Given the description of an element on the screen output the (x, y) to click on. 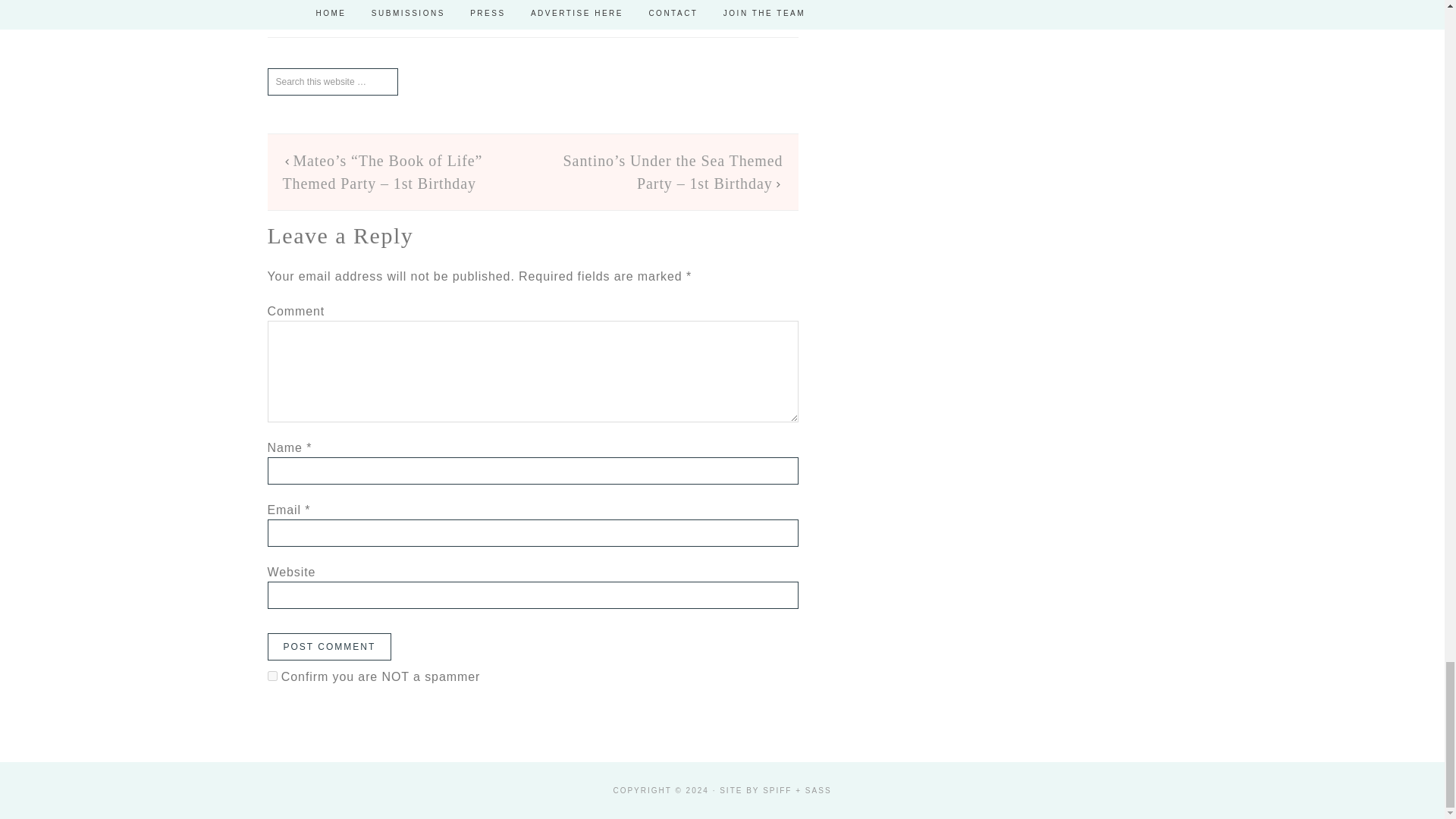
on (271, 675)
Post Comment (328, 646)
